Given the description of an element on the screen output the (x, y) to click on. 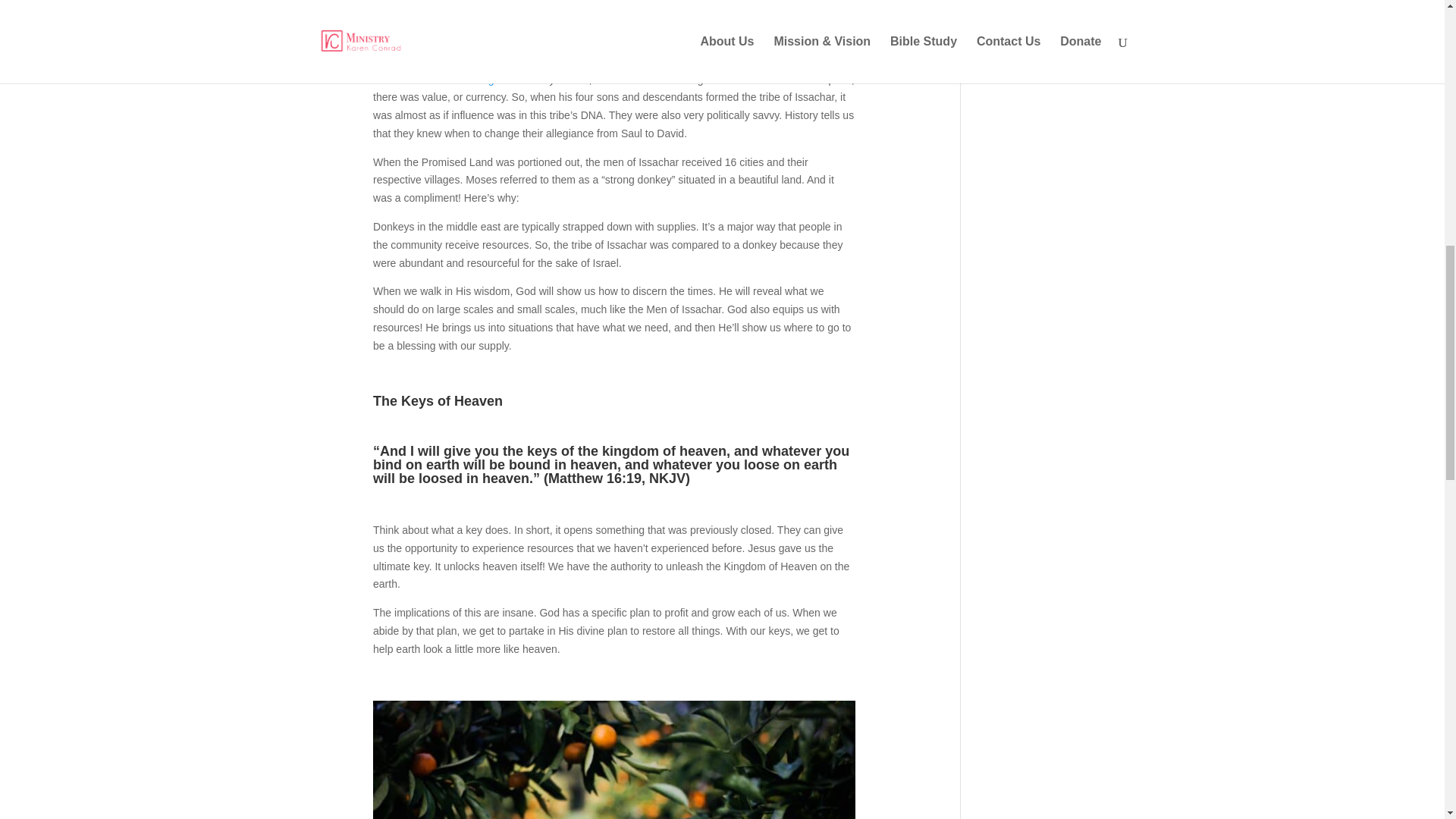
victoria-chen-N6nnIx4C-Fo-unsplash-700x467 (614, 760)
